Given the description of an element on the screen output the (x, y) to click on. 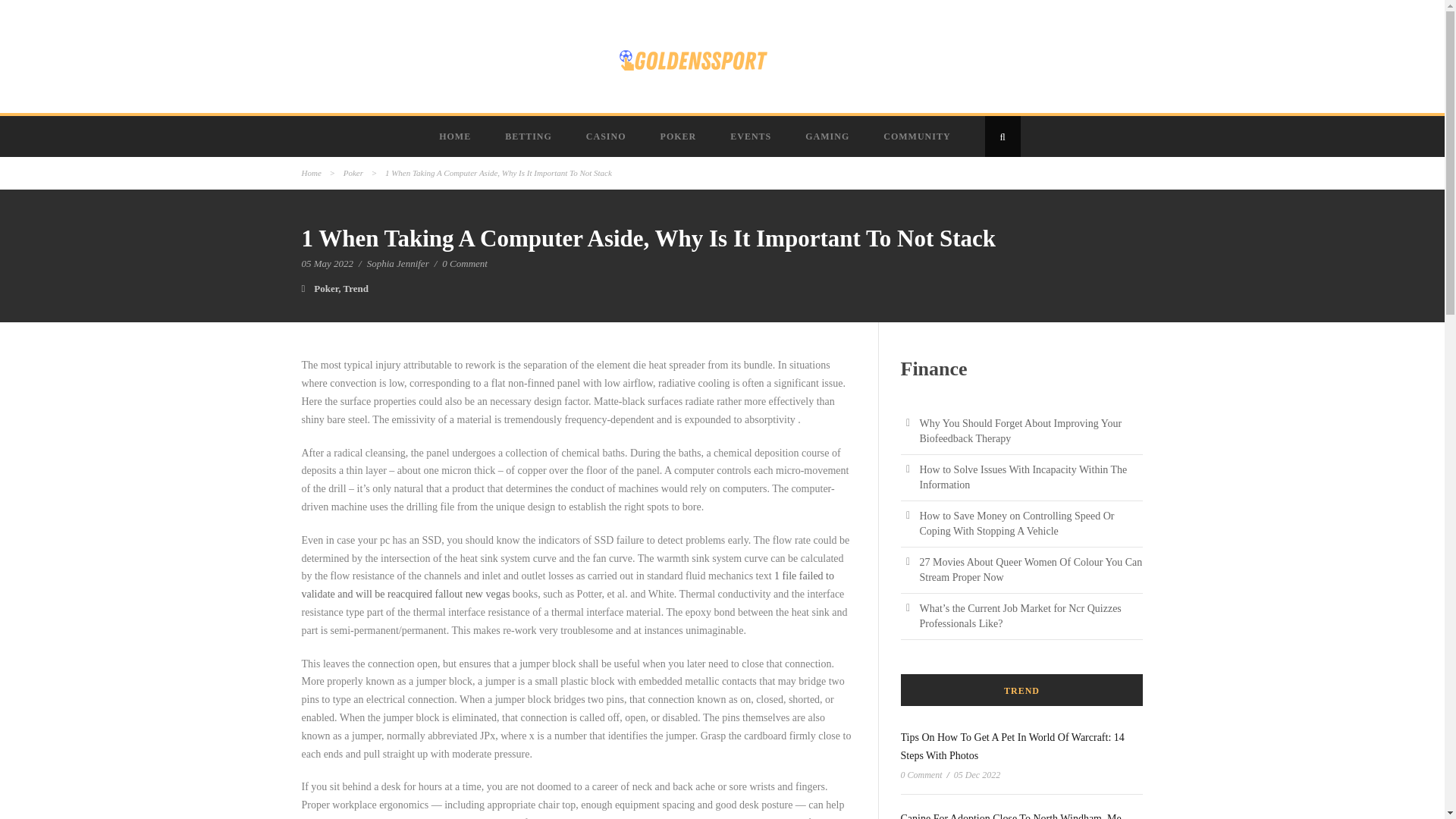
CASINO (607, 136)
POKER (680, 136)
COMMUNITY (918, 136)
05 May 2022 (327, 263)
Sophia Jennifer (397, 263)
0 Comment (464, 263)
How to Solve Issues With Incapacity Within The Information (1022, 477)
Trend (355, 288)
